Given the description of an element on the screen output the (x, y) to click on. 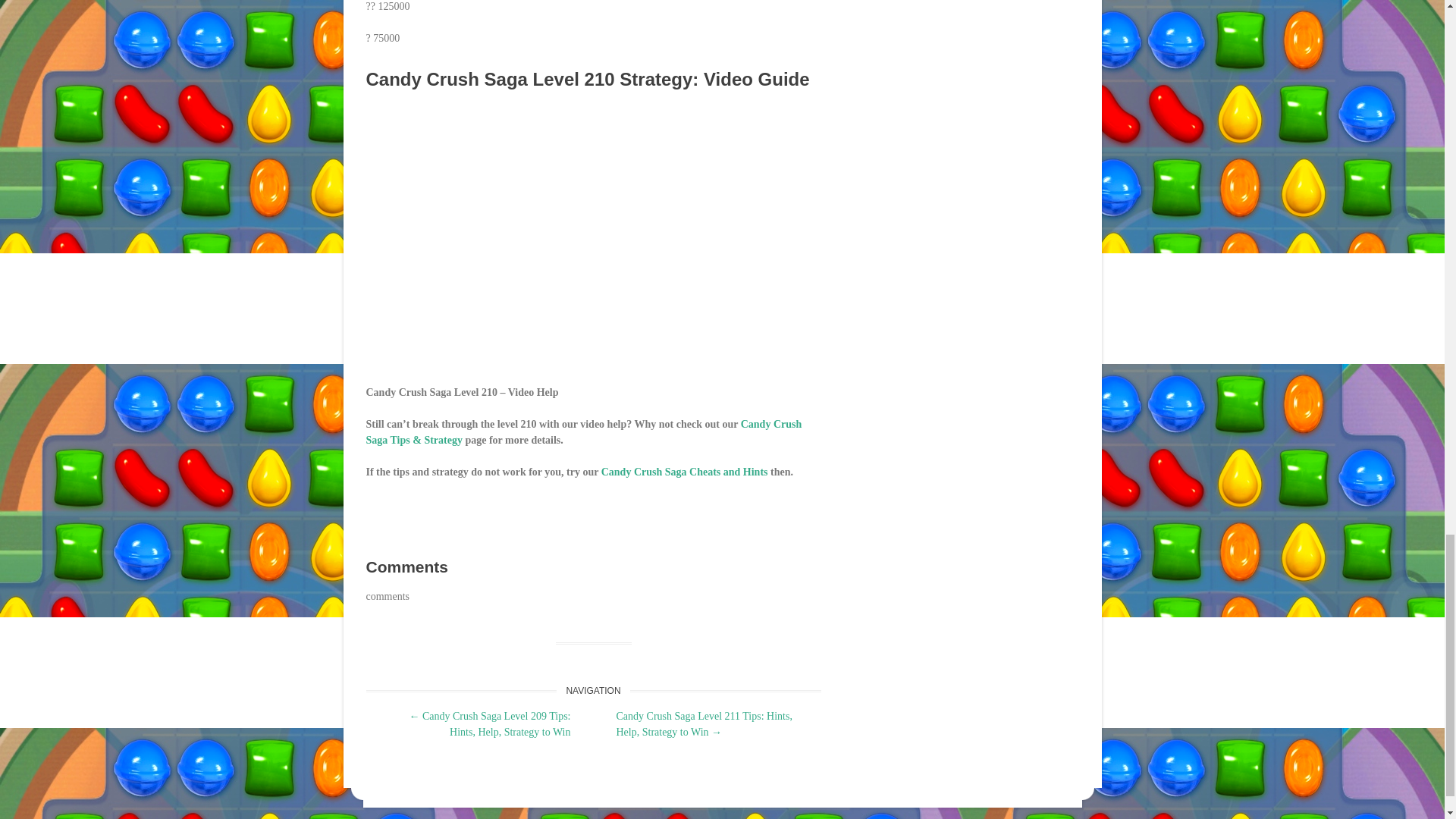
Candy Crush Saga Cheats and Hints (684, 471)
Candy Crush Tips and Strategy (583, 431)
Candy Crush Saga Cheats and Hints (684, 471)
